Given the description of an element on the screen output the (x, y) to click on. 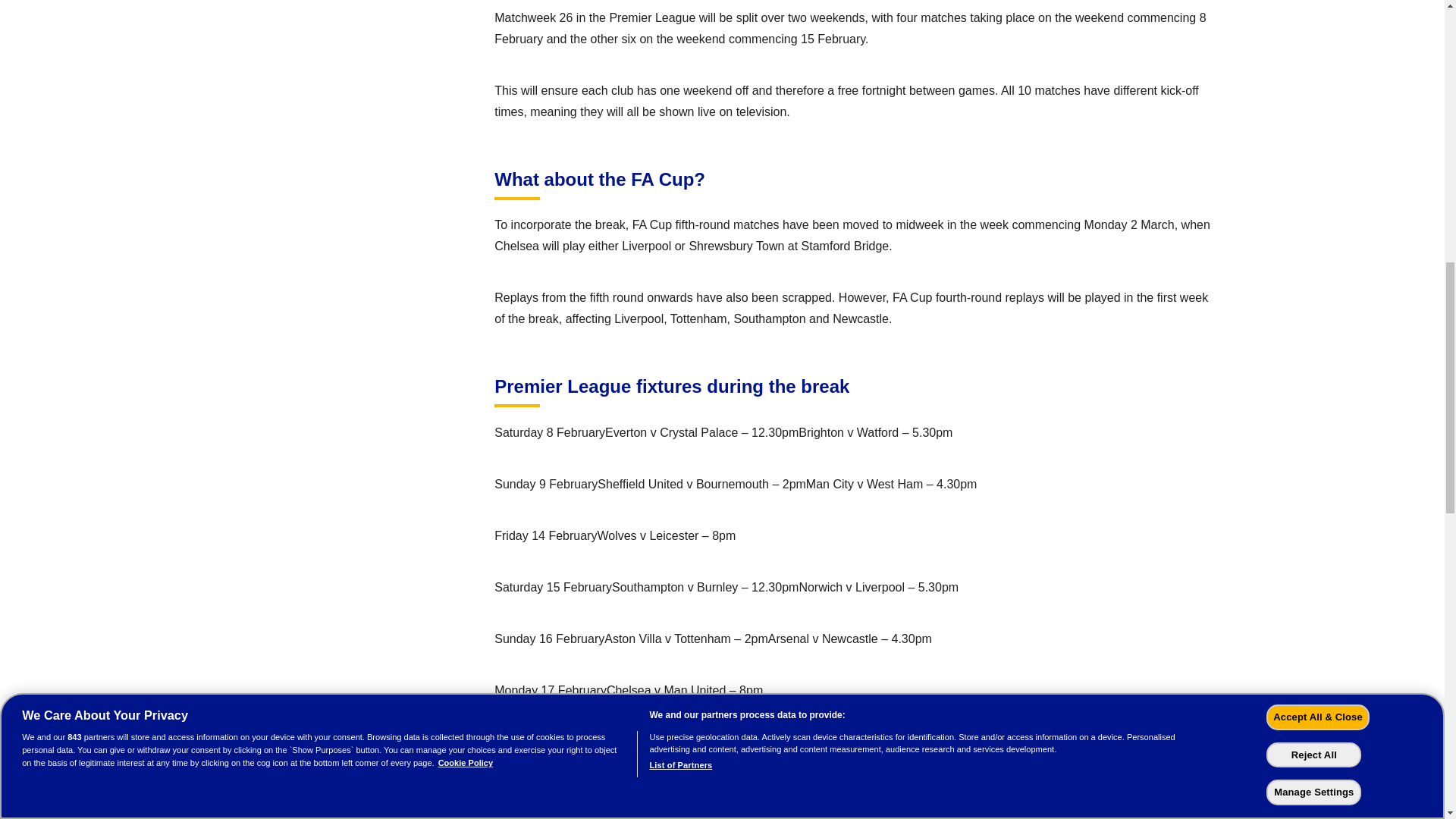
Cookie Policy (465, 10)
Reject All (1313, 2)
List of Partners (681, 10)
Manage Settings (1313, 27)
